Given the description of an element on the screen output the (x, y) to click on. 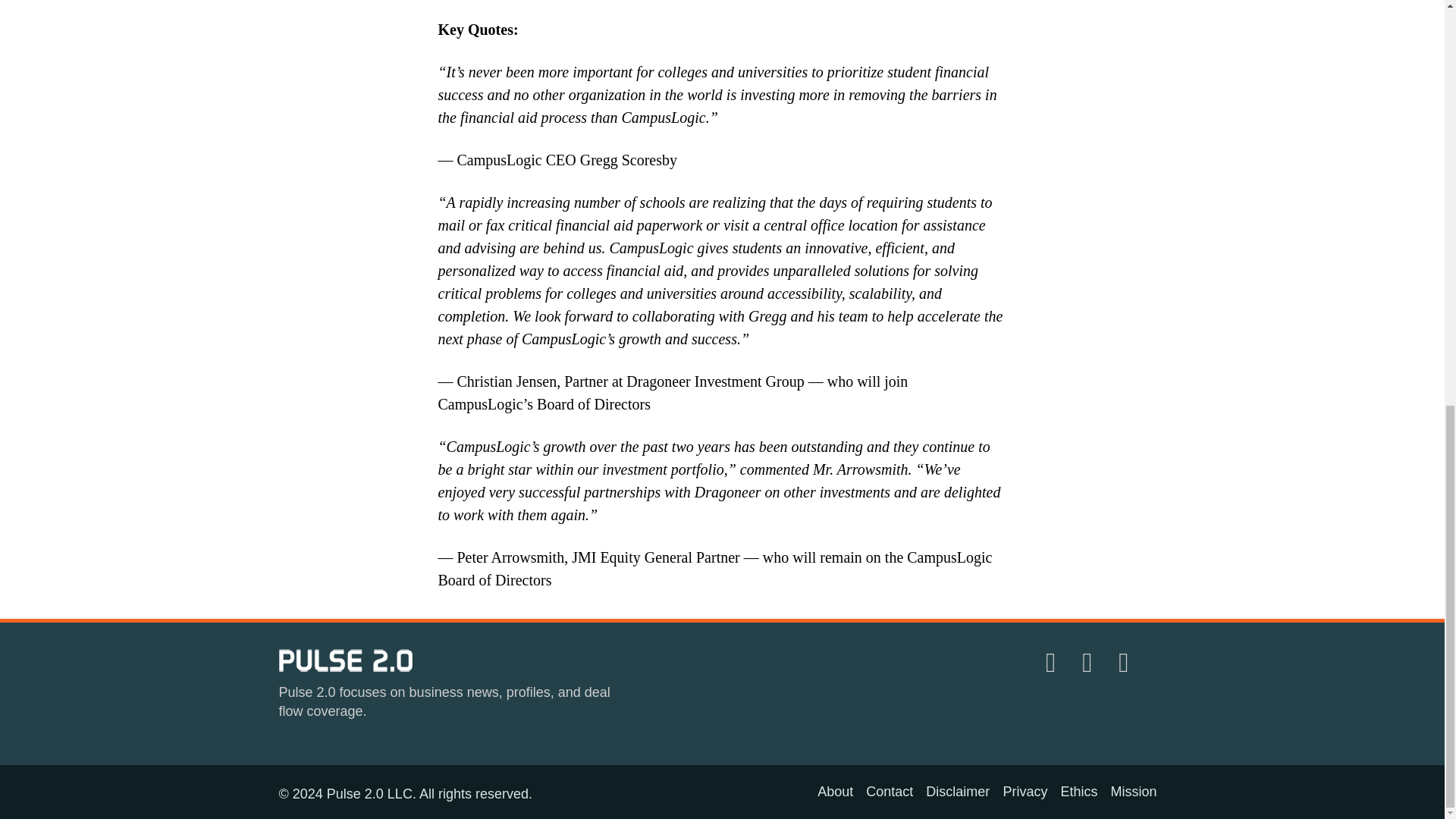
Disclaimer (958, 791)
About (834, 791)
Pulse 2.0 Twitter (1090, 662)
Pulse 2.0 LinkedIn (1053, 662)
Contact (889, 791)
Mission (1132, 791)
Privacy (1024, 791)
Pulse 2.0 (345, 659)
Pulse 2.0 Facebook (1125, 662)
Ethics (1078, 791)
